Given the description of an element on the screen output the (x, y) to click on. 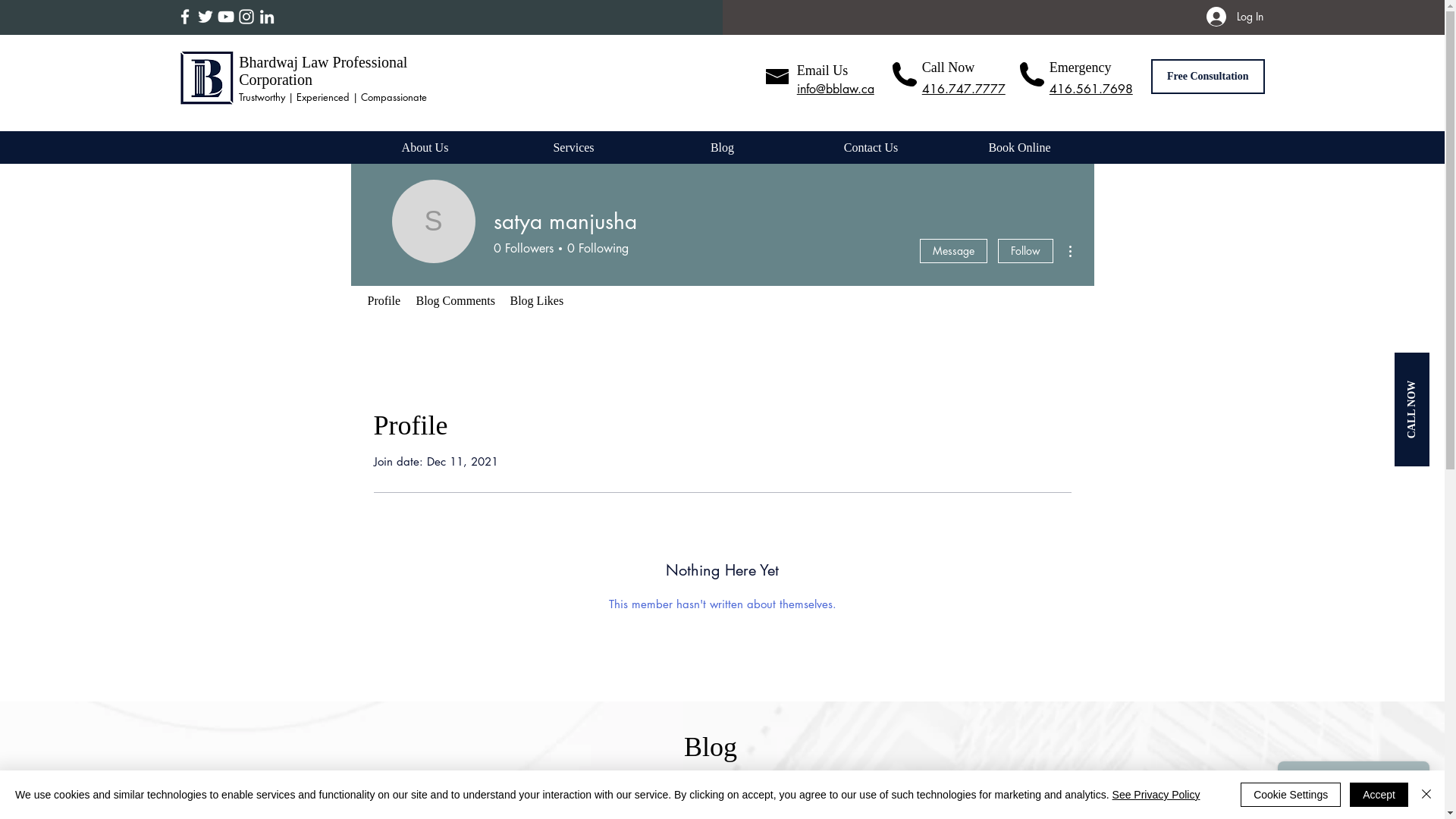
Log In Element type: text (1234, 15)
Blog Comments Element type: text (454, 300)
Contact Us Element type: text (870, 147)
Profile Element type: text (383, 300)
Blog Element type: text (721, 147)
Follow Element type: text (1025, 250)
0
Following Element type: text (594, 248)
Trustworthy | Experienced | Compassionate  Element type: text (333, 96)
Bhardwaj Law Professional Corporation Element type: text (322, 70)
416.747.7777 Element type: text (963, 89)
See Privacy Policy Element type: text (1156, 794)
Accept Element type: text (1378, 794)
0
Followers Element type: text (522, 248)
About Us Element type: text (424, 147)
Book Online Element type: text (1018, 147)
Cookie Settings Element type: text (1290, 794)
Message Element type: text (952, 250)
info@bblaw.ca Element type: text (835, 89)
Free Consultation Element type: text (1207, 76)
416.561.7698 Element type: text (1090, 89)
Blog Likes Element type: text (536, 300)
